Given the description of an element on the screen output the (x, y) to click on. 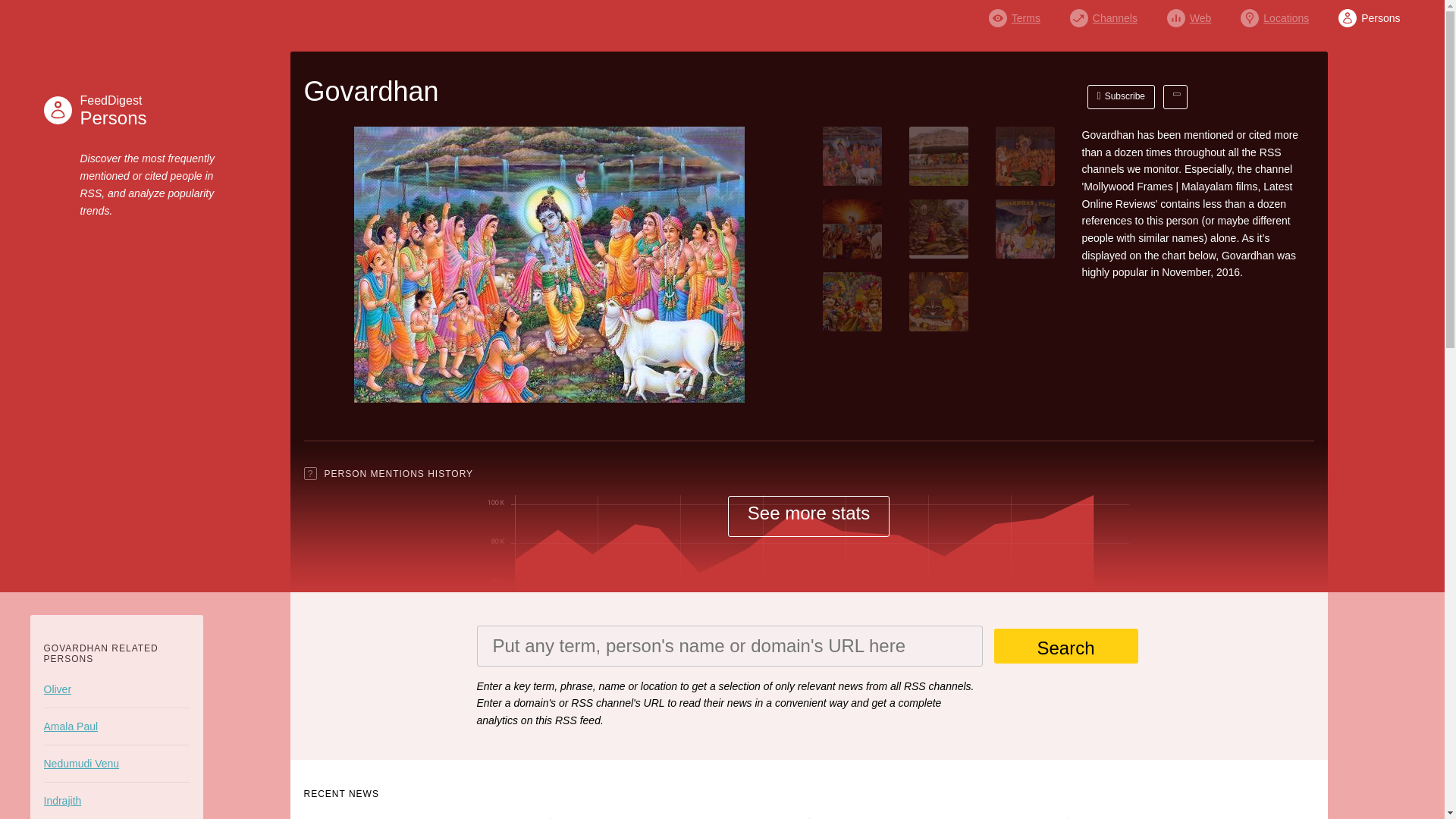
Subscribe (1121, 96)
Channels (1103, 14)
Terms (1014, 14)
Search (114, 109)
Web (1064, 645)
Locations (1189, 14)
Persons (1274, 14)
See more stats (1368, 14)
